Given the description of an element on the screen output the (x, y) to click on. 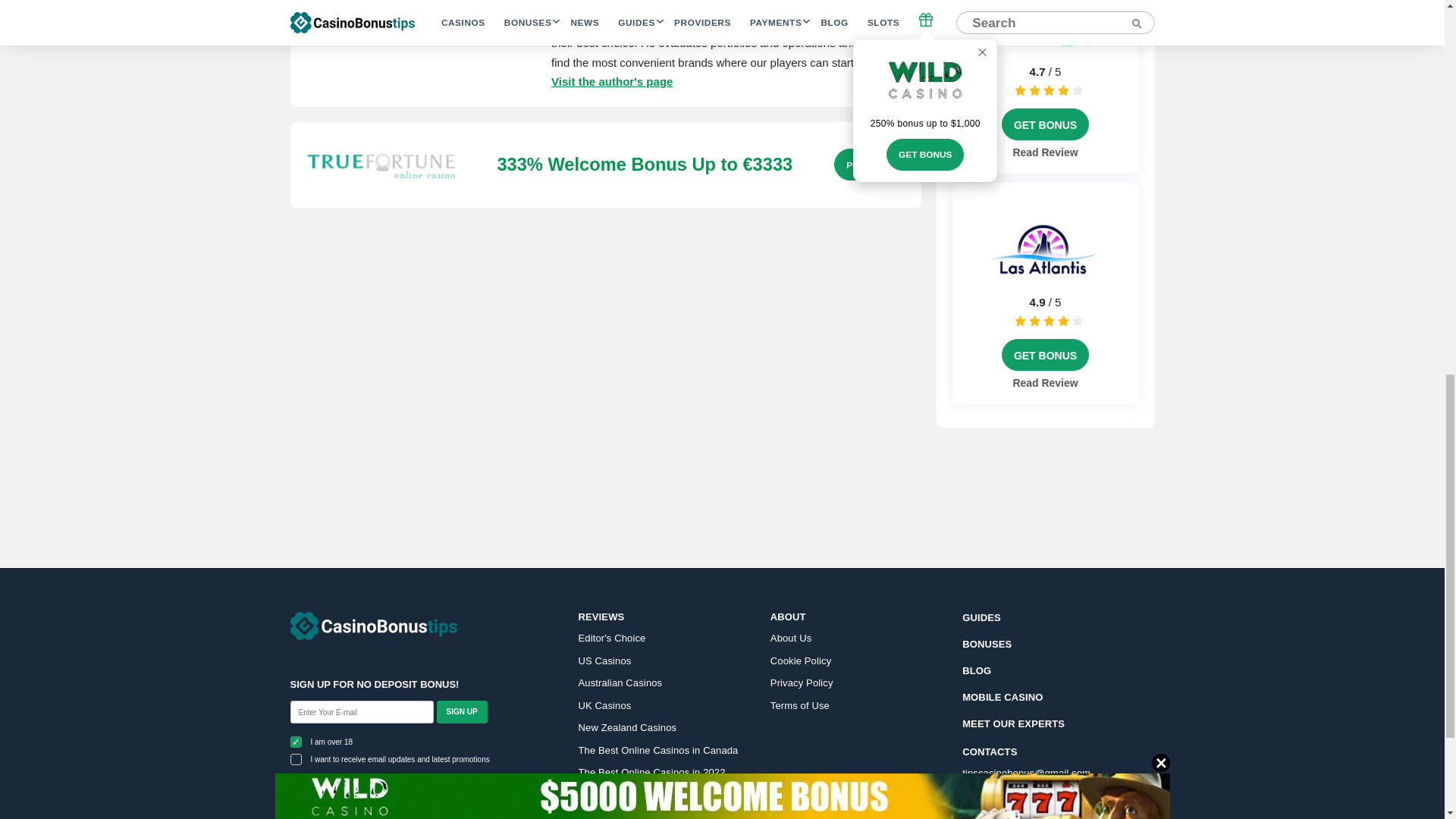
on (295, 741)
on (295, 758)
